Given the description of an element on the screen output the (x, y) to click on. 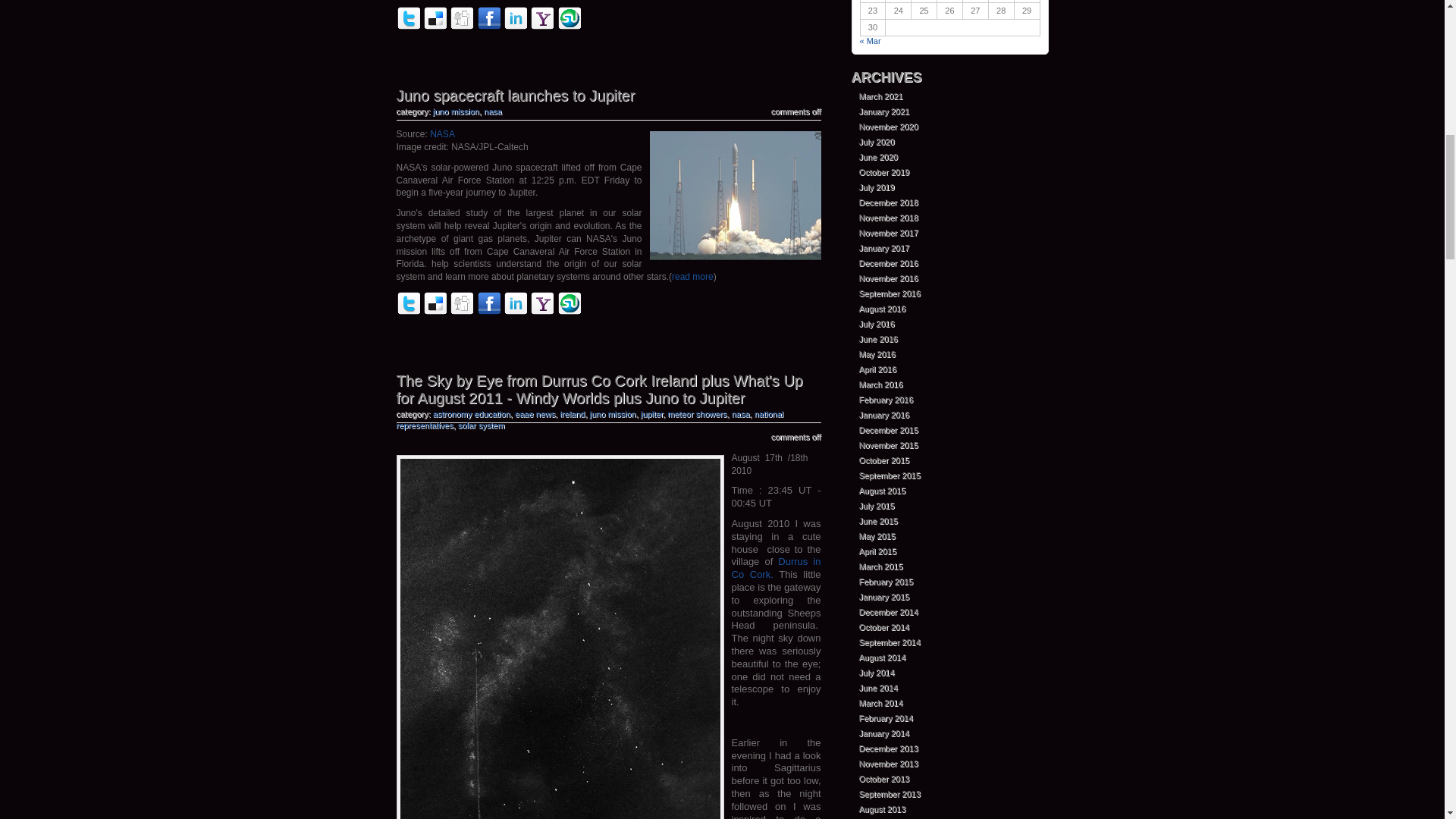
meteor showers (696, 413)
jupiter (651, 413)
Digg (461, 27)
Twitter (408, 312)
Yahoo Buzz (541, 27)
del.icio.us (434, 27)
ireland (572, 413)
Juno spacecraft launches to Jupiter (515, 95)
StumbleUpon (568, 17)
juno20110805 (735, 195)
